Given the description of an element on the screen output the (x, y) to click on. 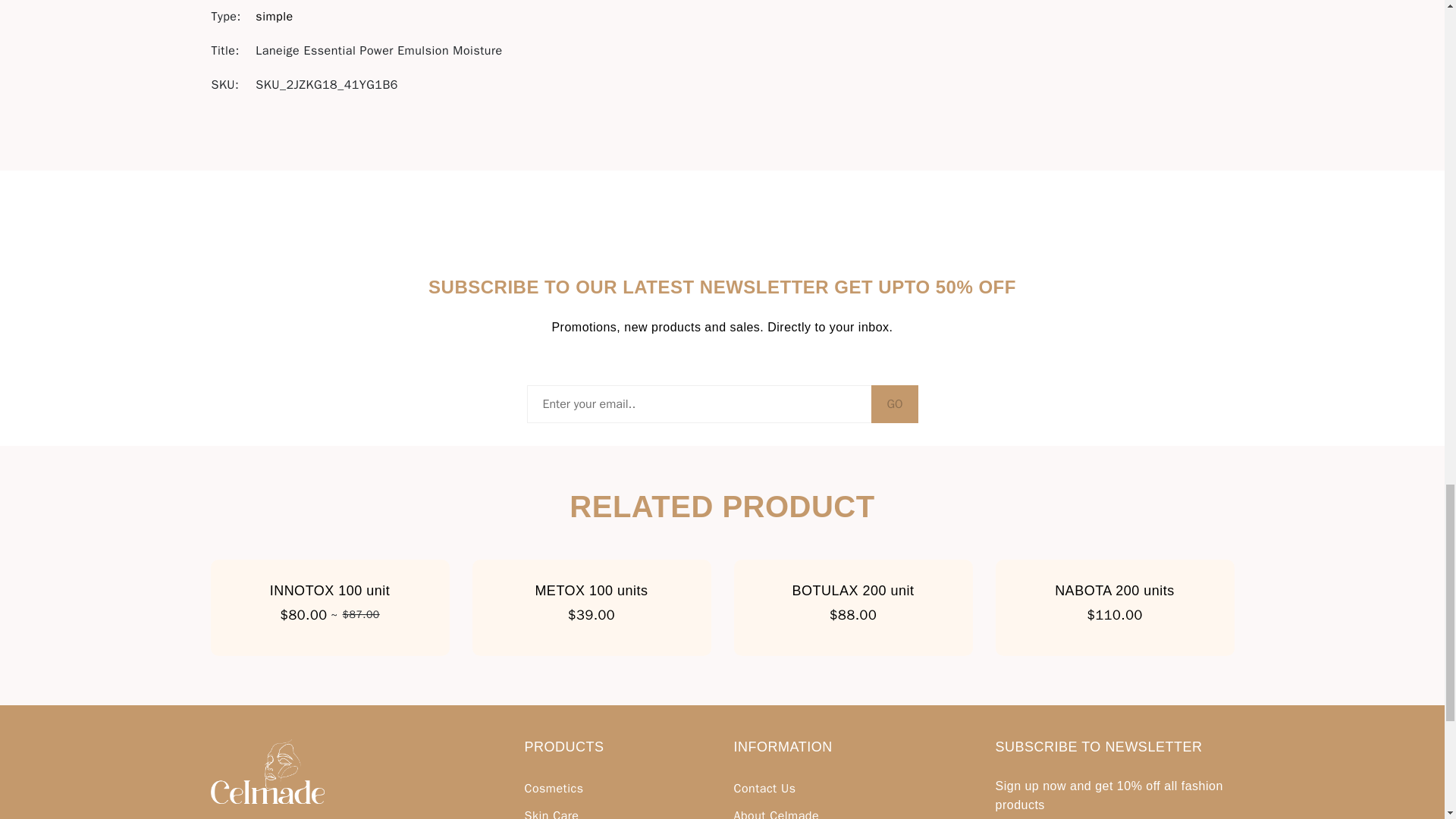
METOX 100 units (590, 591)
INNOTOX 100 unit (329, 591)
simple (274, 16)
